Given the description of an element on the screen output the (x, y) to click on. 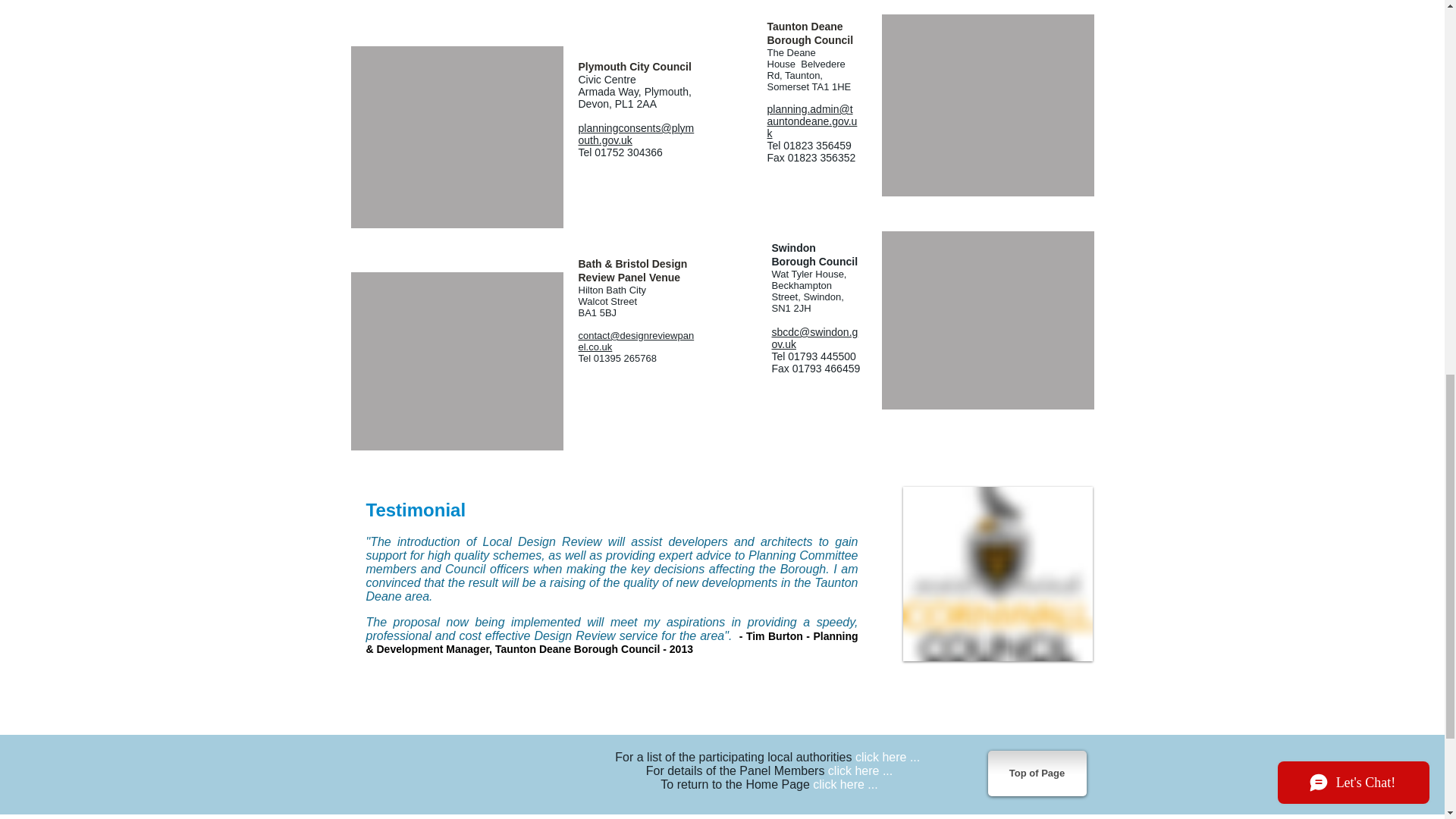
Google Maps (987, 319)
Google Maps (987, 105)
Google Maps (457, 136)
Google Maps (457, 360)
